Given the description of an element on the screen output the (x, y) to click on. 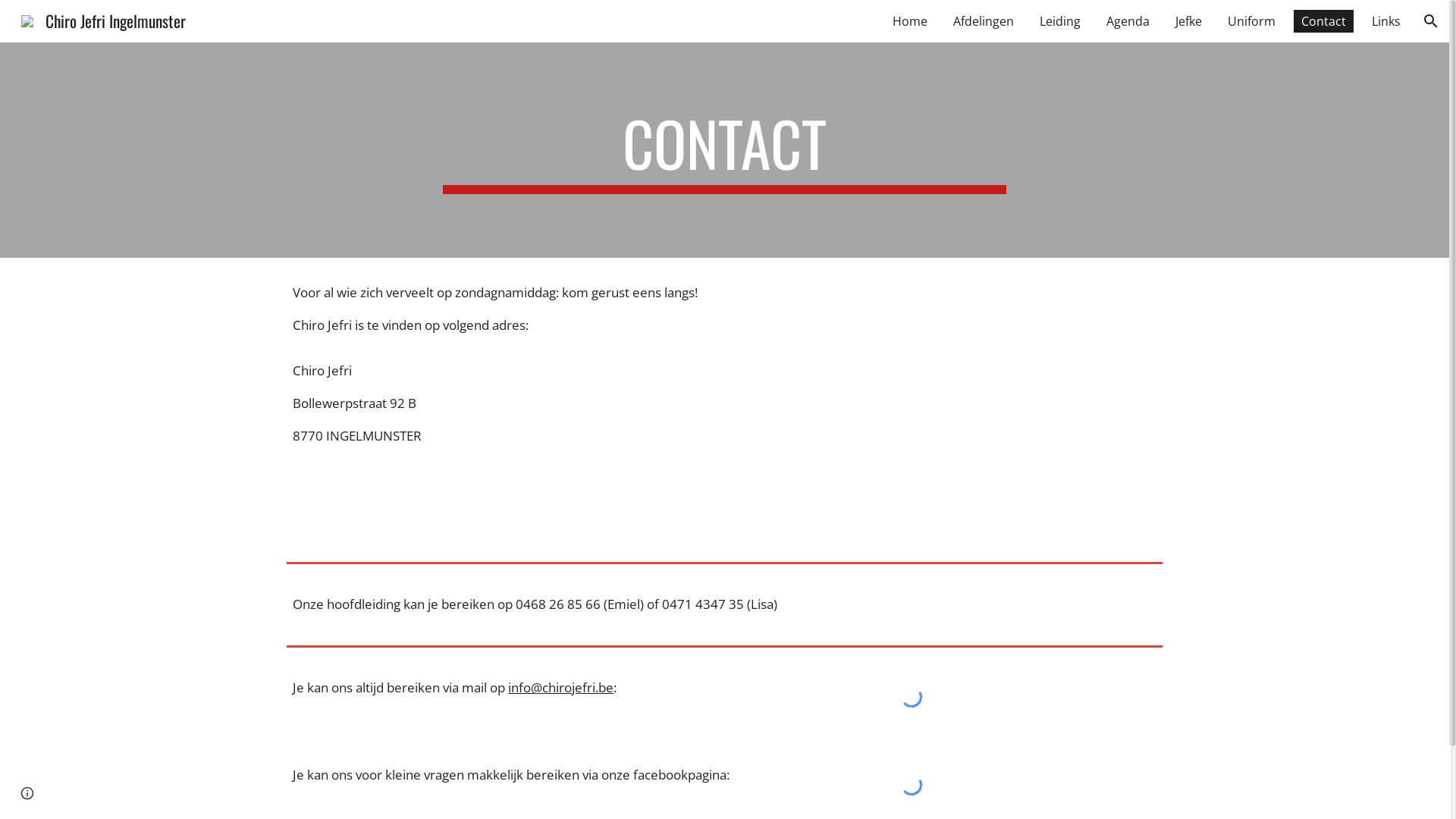
Custom embed Element type: hover (911, 696)
Afdelingen Element type: text (983, 20)
Chiro Jefri Ingelmunster Element type: text (103, 18)
Jefke Element type: text (1188, 20)
Links Element type: text (1386, 20)
Home Element type: text (909, 20)
Custom embed Element type: hover (911, 784)
Agenda Element type: text (1127, 20)
Leiding Element type: text (1060, 20)
Contact Element type: text (1323, 20)
Uniform Element type: text (1251, 20)
info@chirojefri.be Element type: text (560, 686)
